Given the description of an element on the screen output the (x, y) to click on. 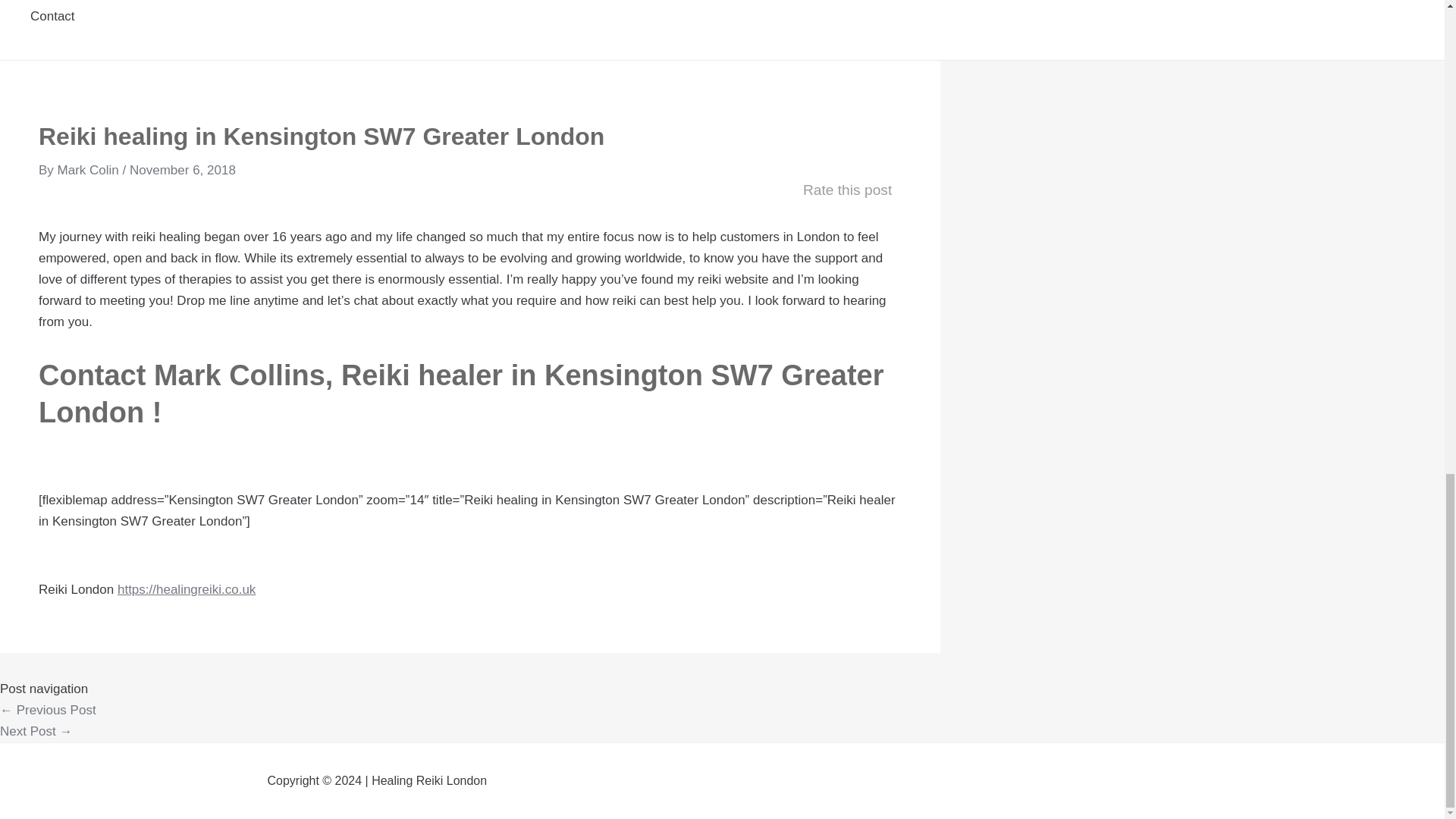
Contact (156, 23)
View all posts by Mark Colin (90, 169)
Reiki healing in Camden Town NW6 Greater London (35, 730)
Reiki healing in Camberwell SE16 Greater London (48, 709)
